Given the description of an element on the screen output the (x, y) to click on. 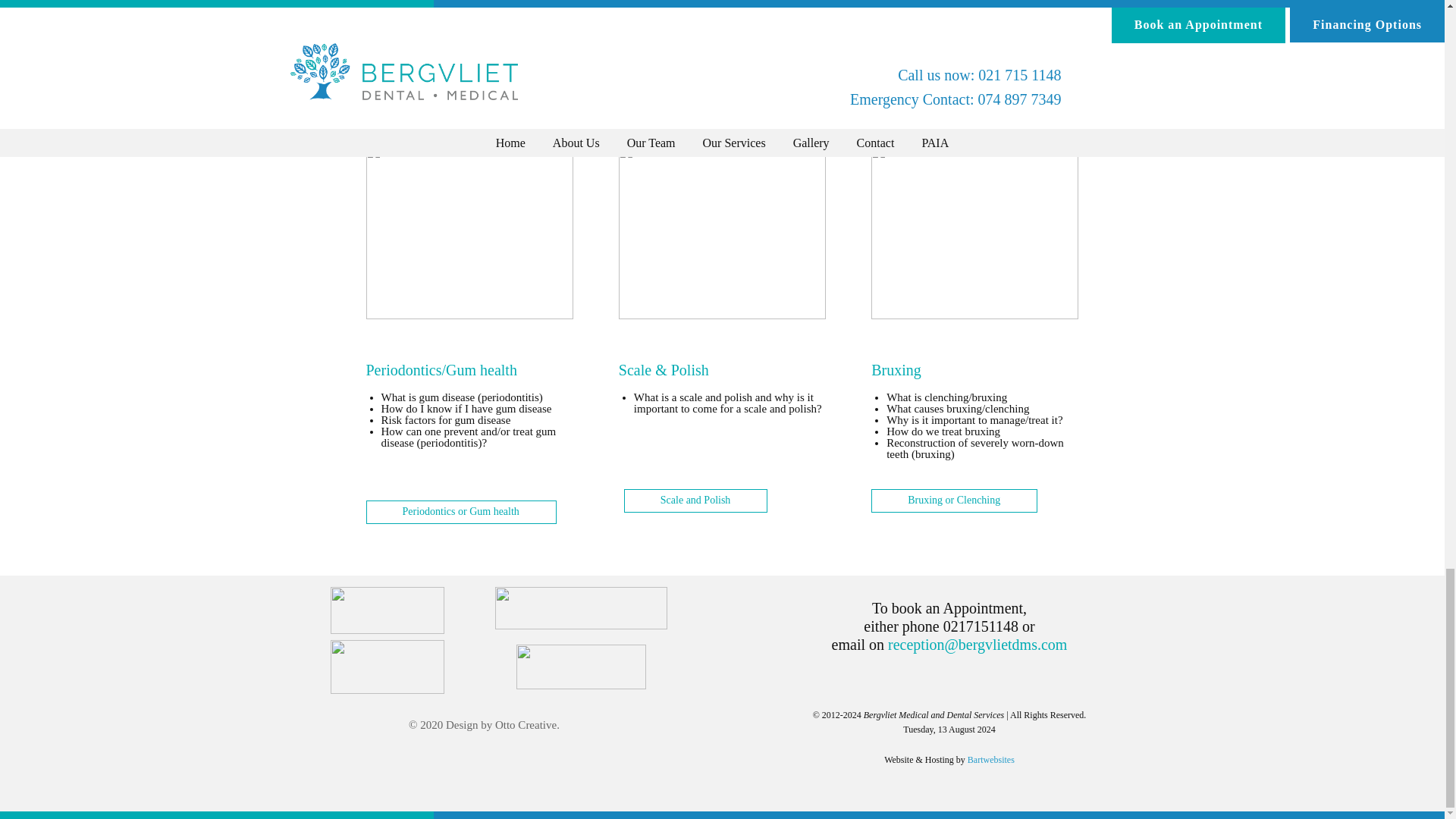
Prosthetic or False teeth (453, 42)
Orthodontics and clear aligner (972, 42)
Pediatric dentistry (694, 42)
